Given the description of an element on the screen output the (x, y) to click on. 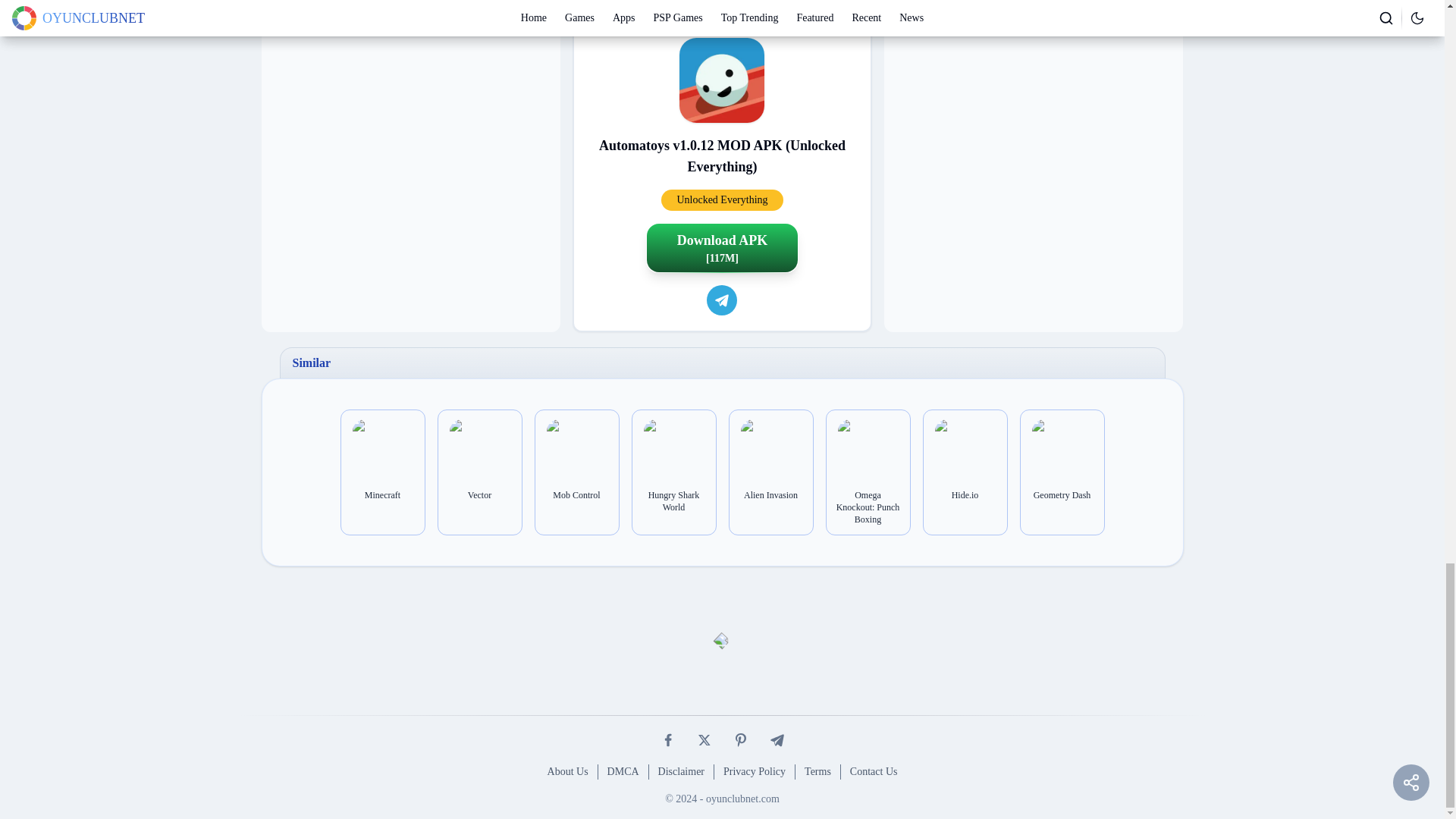
Omega Knockout: Punch Boxing (868, 506)
Mob Control (577, 494)
Minecraft (382, 494)
oyunclubnet.com on Telegram (721, 300)
Hungry Shark World (674, 500)
Alien Invasion (770, 494)
Hide.io (965, 494)
Geometry Dash (1061, 494)
Vector (479, 494)
